Given the description of an element on the screen output the (x, y) to click on. 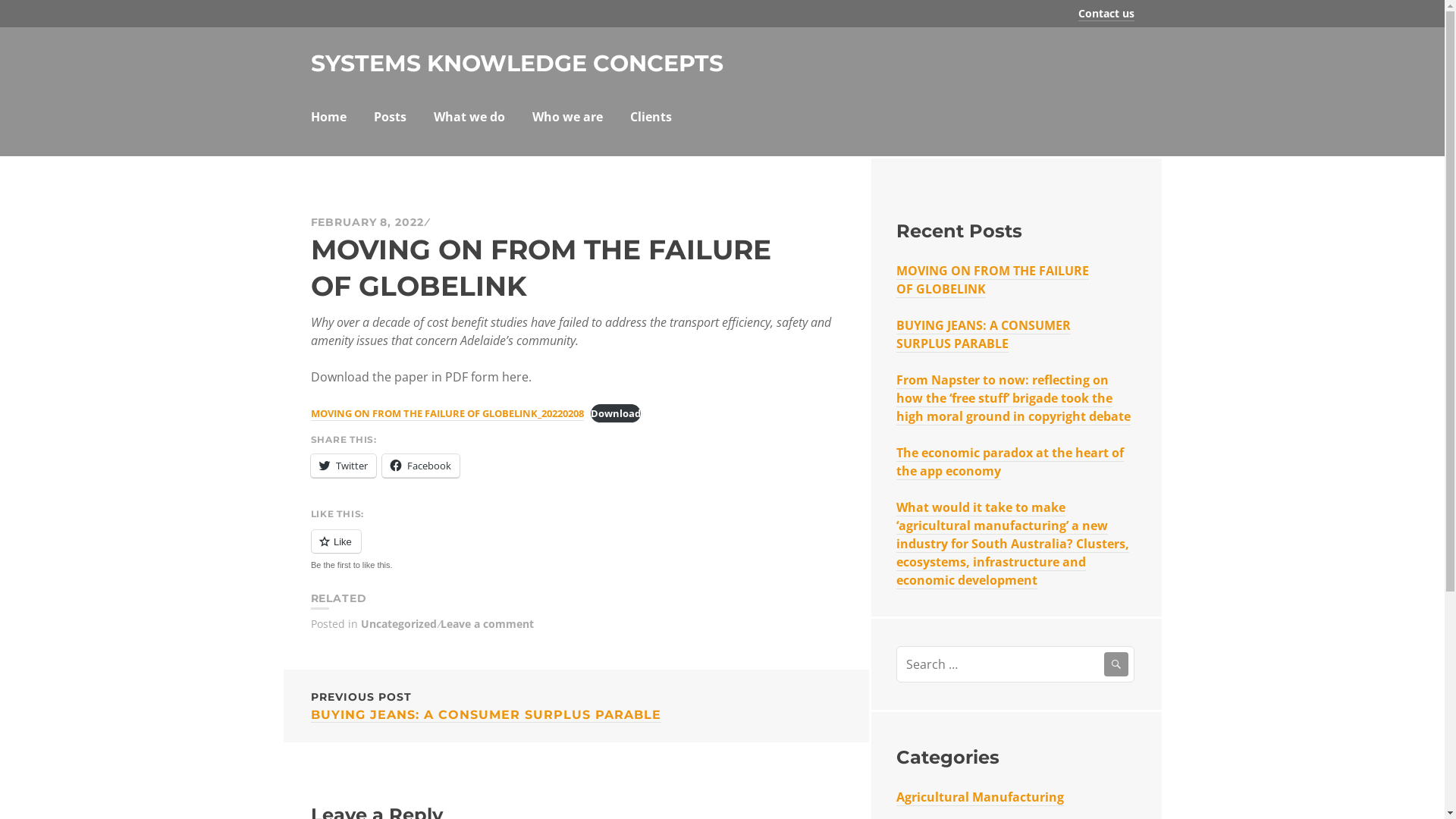
Home Element type: text (328, 118)
Contact us Element type: text (1106, 13)
Twitter Element type: text (343, 465)
MOVING ON FROM THE FAILURE OF GLOBELINK_20220208 Element type: text (446, 413)
FEBRUARY 8, 2022 Element type: text (366, 222)
SYSTEMS KNOWLEDGE CONCEPTS Element type: text (516, 63)
Search Element type: text (1116, 664)
Like or Reblog Element type: hover (575, 550)
PREVIOUS POST
BUYING JEANS: A CONSUMER SURPLUS PARABLE Element type: text (575, 704)
Uncategorized Element type: text (398, 623)
Agricultural Manufacturing Element type: text (979, 797)
Who we are Element type: text (567, 118)
BUYING JEANS: A CONSUMER SURPLUS PARABLE Element type: text (983, 334)
Leave a comment Element type: text (486, 623)
The economic paradox at the heart of the app economy Element type: text (1009, 462)
Download Element type: text (615, 413)
Posts Element type: text (389, 118)
What we do Element type: text (469, 118)
Facebook Element type: text (420, 465)
Clients Element type: text (650, 118)
MOVING ON FROM THE FAILURE OF GLOBELINK Element type: text (992, 280)
